Given the description of an element on the screen output the (x, y) to click on. 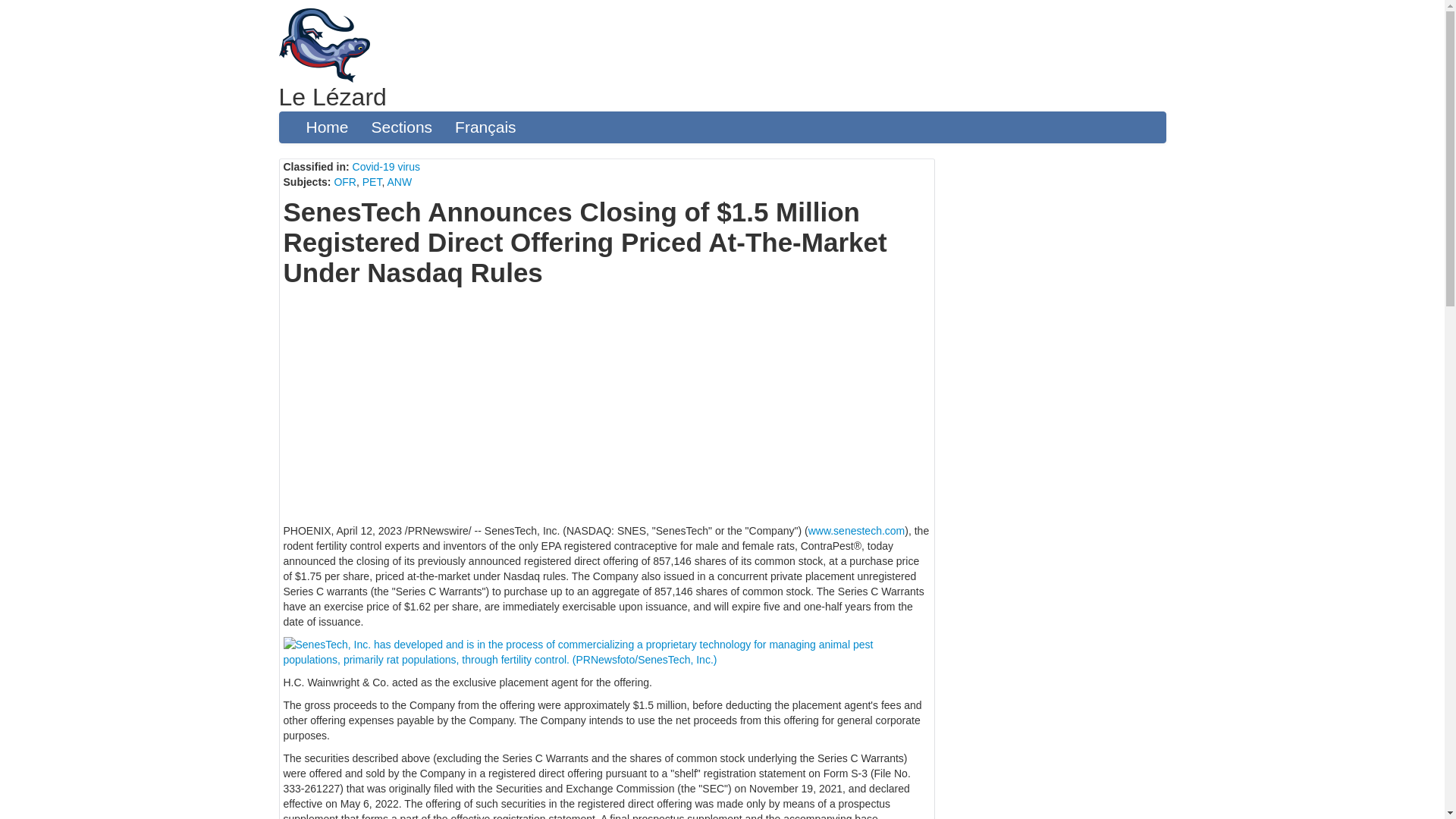
Sections (401, 127)
PET (371, 182)
ANW (399, 182)
Home (326, 127)
Covid-19 virus (386, 166)
OFR (344, 182)
www.senestech.com (856, 530)
